Given the description of an element on the screen output the (x, y) to click on. 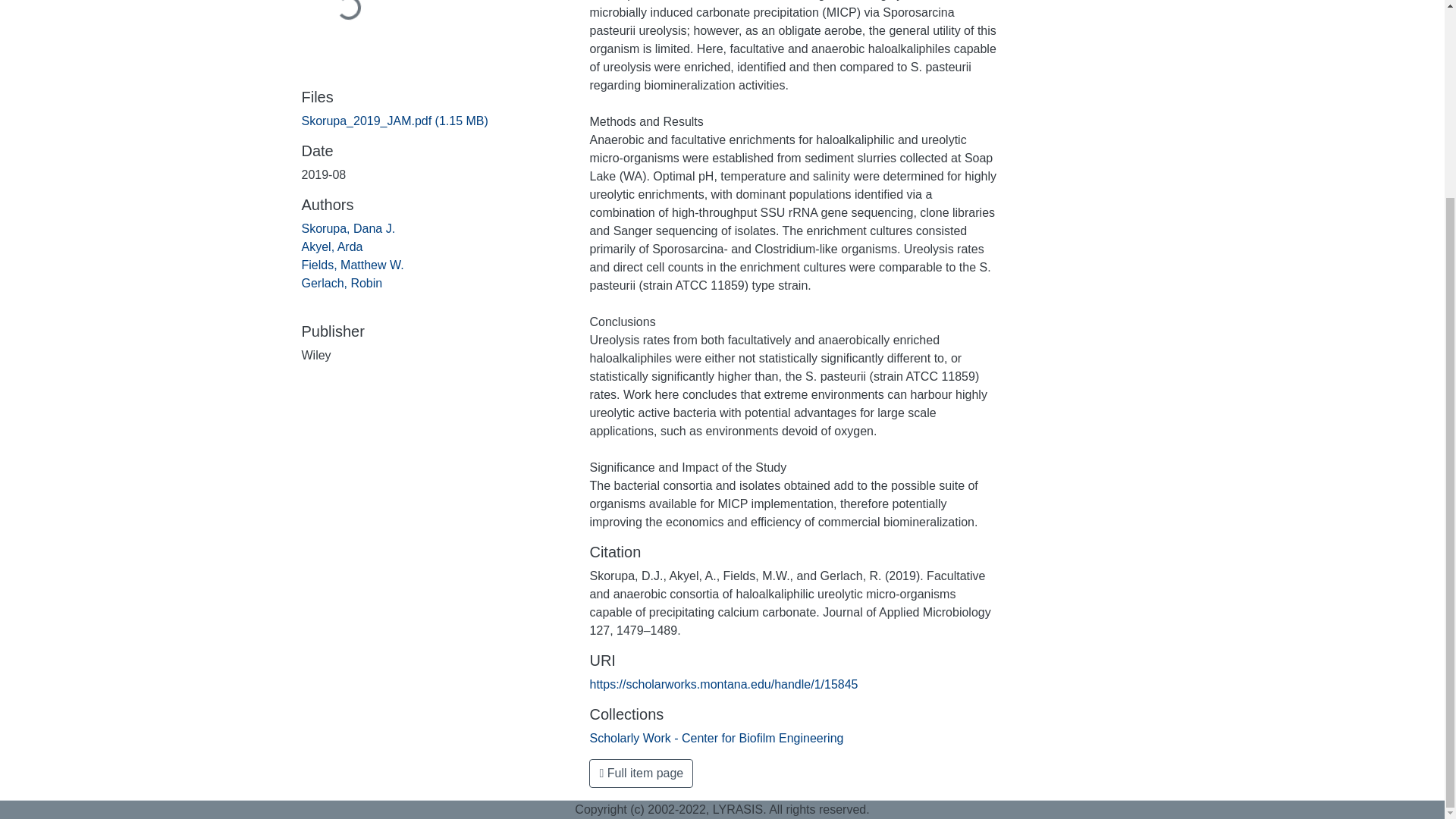
Gerlach, Robin (341, 282)
Fields, Matthew W. (352, 264)
Scholarly Work - Center for Biofilm Engineering (716, 738)
Skorupa, Dana J. (348, 228)
Akyel, Arda (331, 246)
Full item page (641, 773)
